Given the description of an element on the screen output the (x, y) to click on. 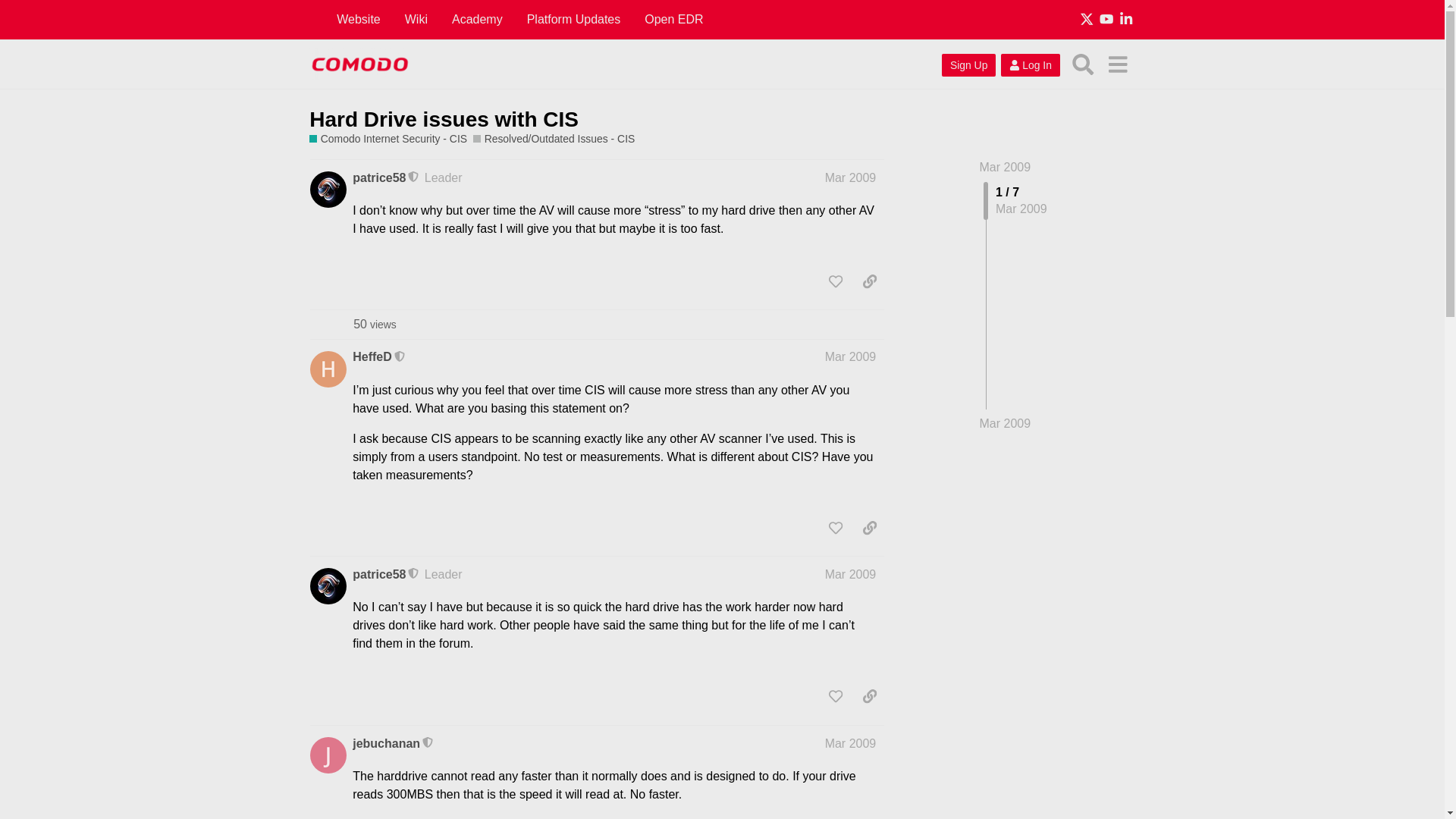
Website (358, 19)
Post date (850, 177)
Post date (850, 356)
Wiki (416, 19)
This user is a moderator (413, 177)
like this post (835, 527)
copy a link to this post to clipboard (869, 527)
Search (1082, 63)
Mar 2009 (850, 356)
Platform Updates (574, 19)
